Given the description of an element on the screen output the (x, y) to click on. 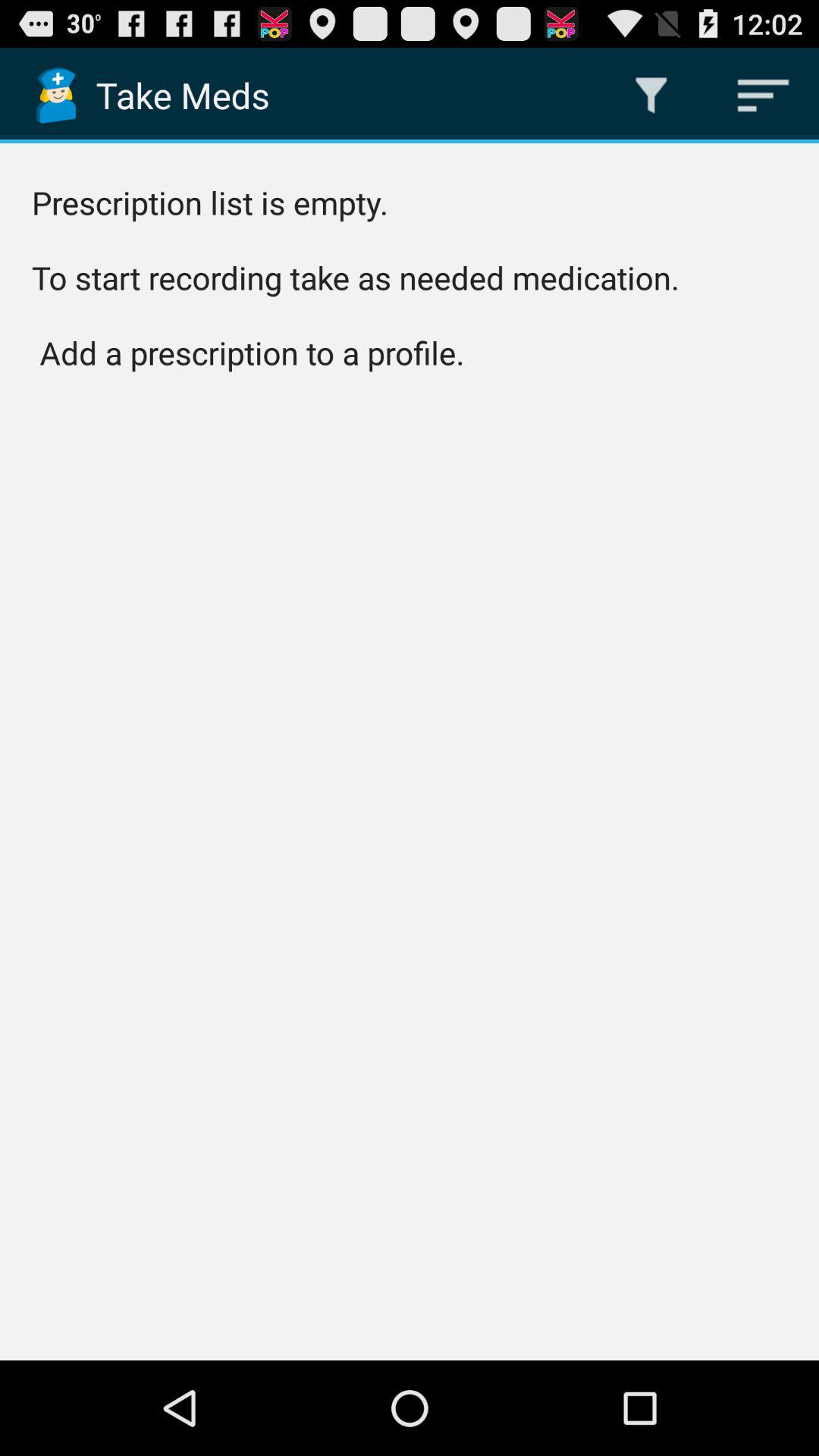
select the icon above prescription list is item (651, 95)
